Given the description of an element on the screen output the (x, y) to click on. 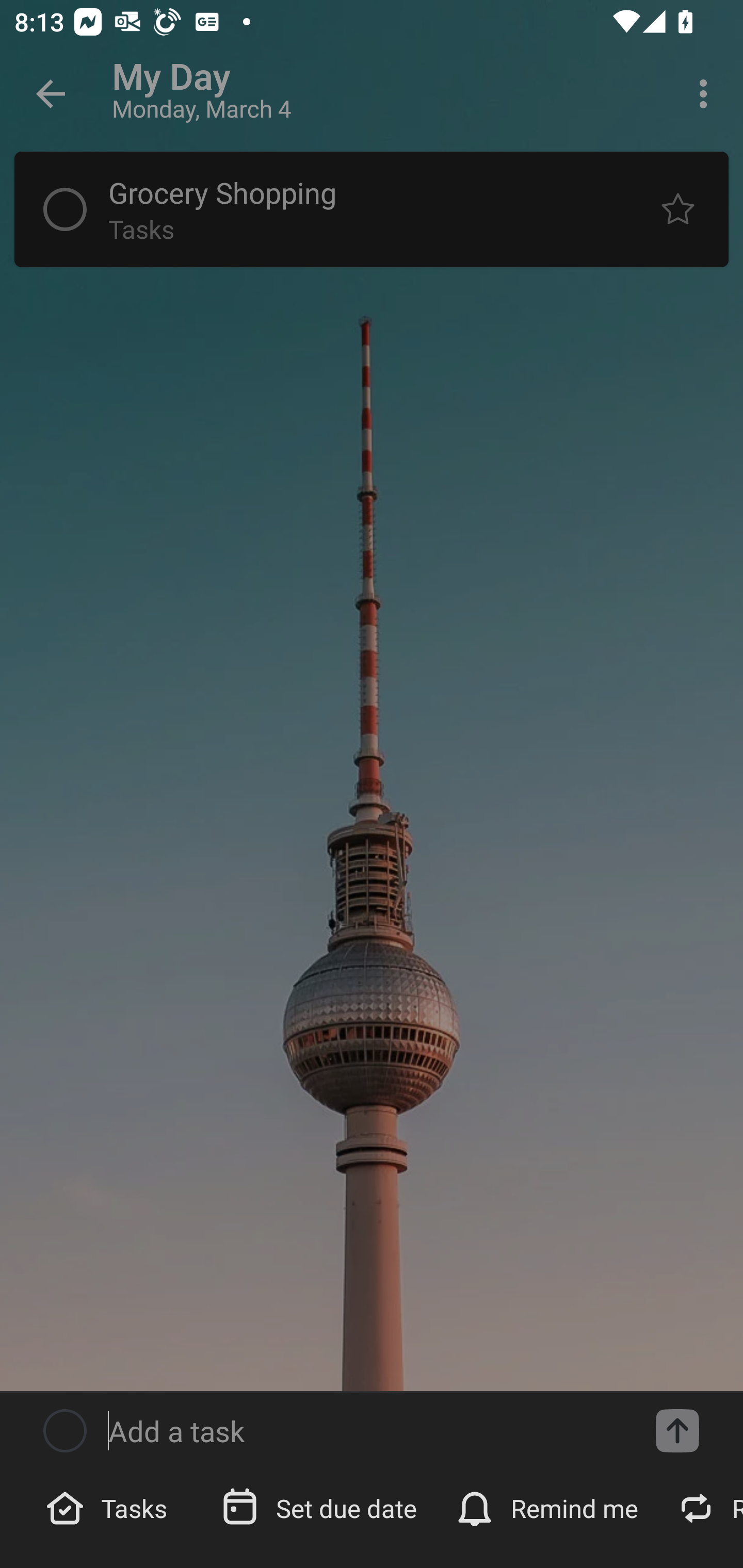
Add a task (676, 1430)
Add a task (366, 1430)
Tasks (108, 1507)
Set due date (321, 1507)
Remind me (548, 1507)
